Given the description of an element on the screen output the (x, y) to click on. 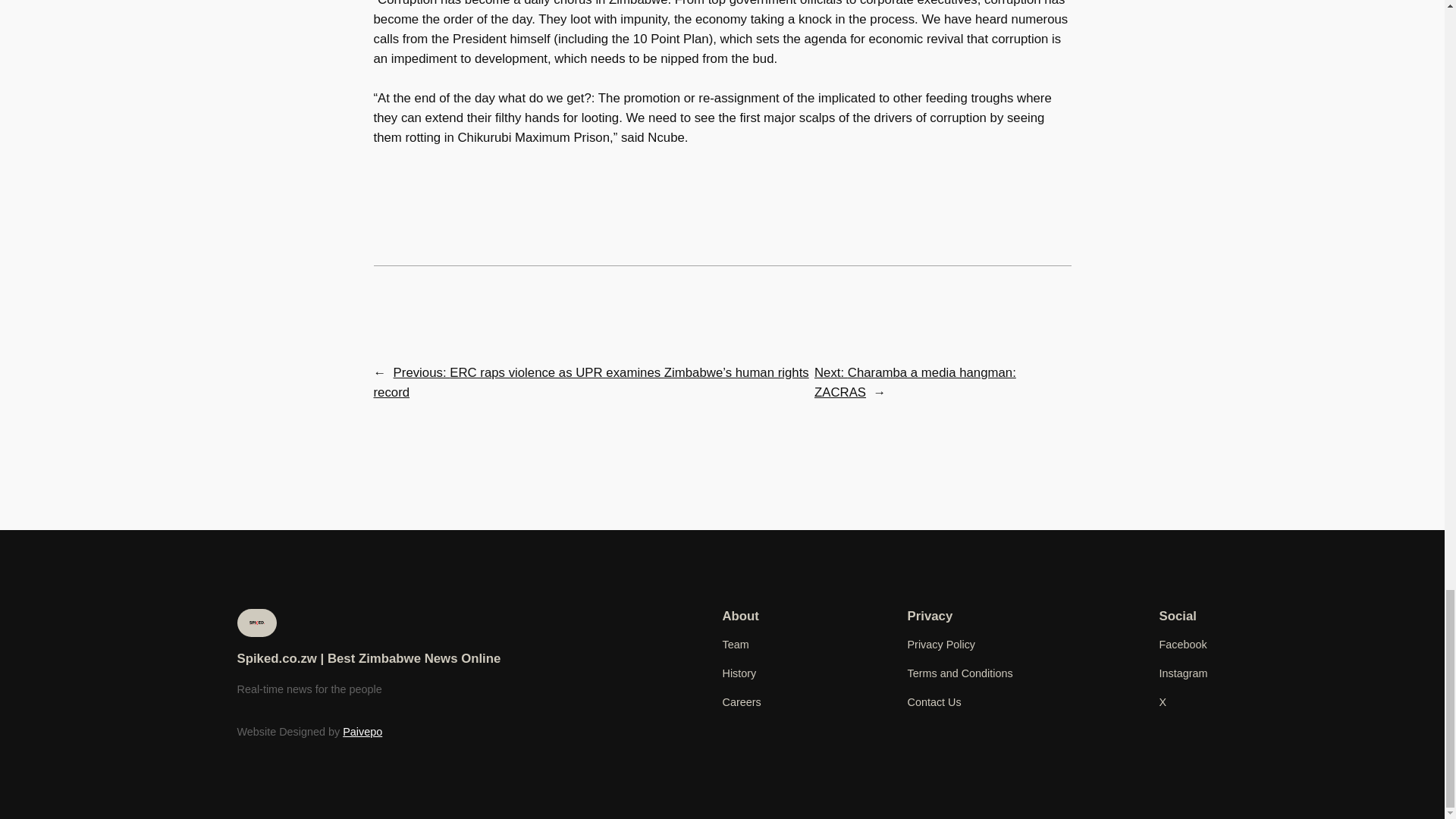
Next: Charamba a media hangman: ZACRAS (914, 382)
Team (735, 644)
Contact Us (933, 701)
Careers (741, 701)
History (738, 673)
Instagram (1182, 673)
Paivepo (361, 731)
Facebook (1182, 644)
Privacy Policy (941, 644)
Terms and Conditions (959, 673)
